Given the description of an element on the screen output the (x, y) to click on. 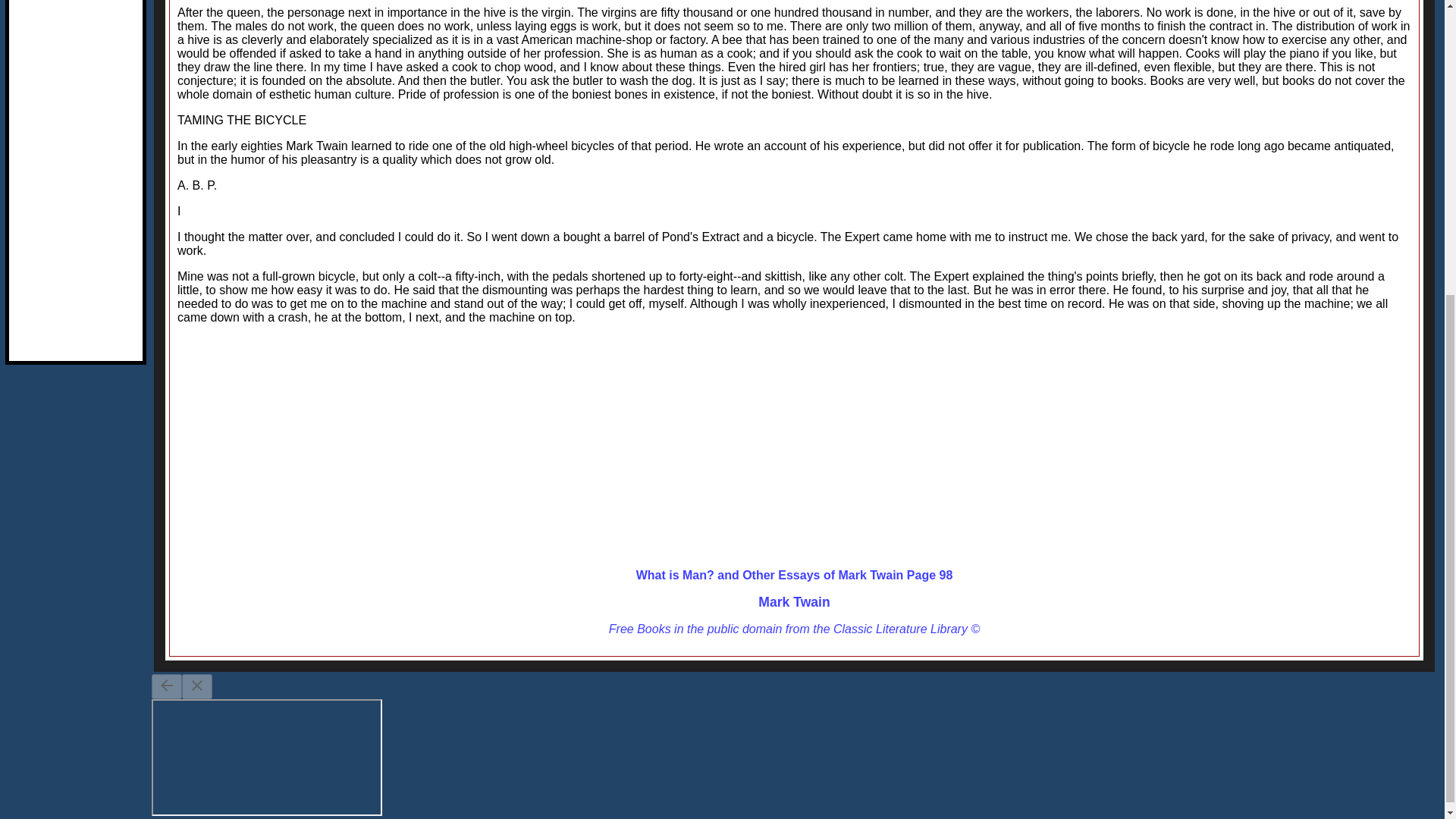
What is Man? and Other Essays of Mark Twain Page 98 (794, 574)
Mark Twain (793, 601)
